Given the description of an element on the screen output the (x, y) to click on. 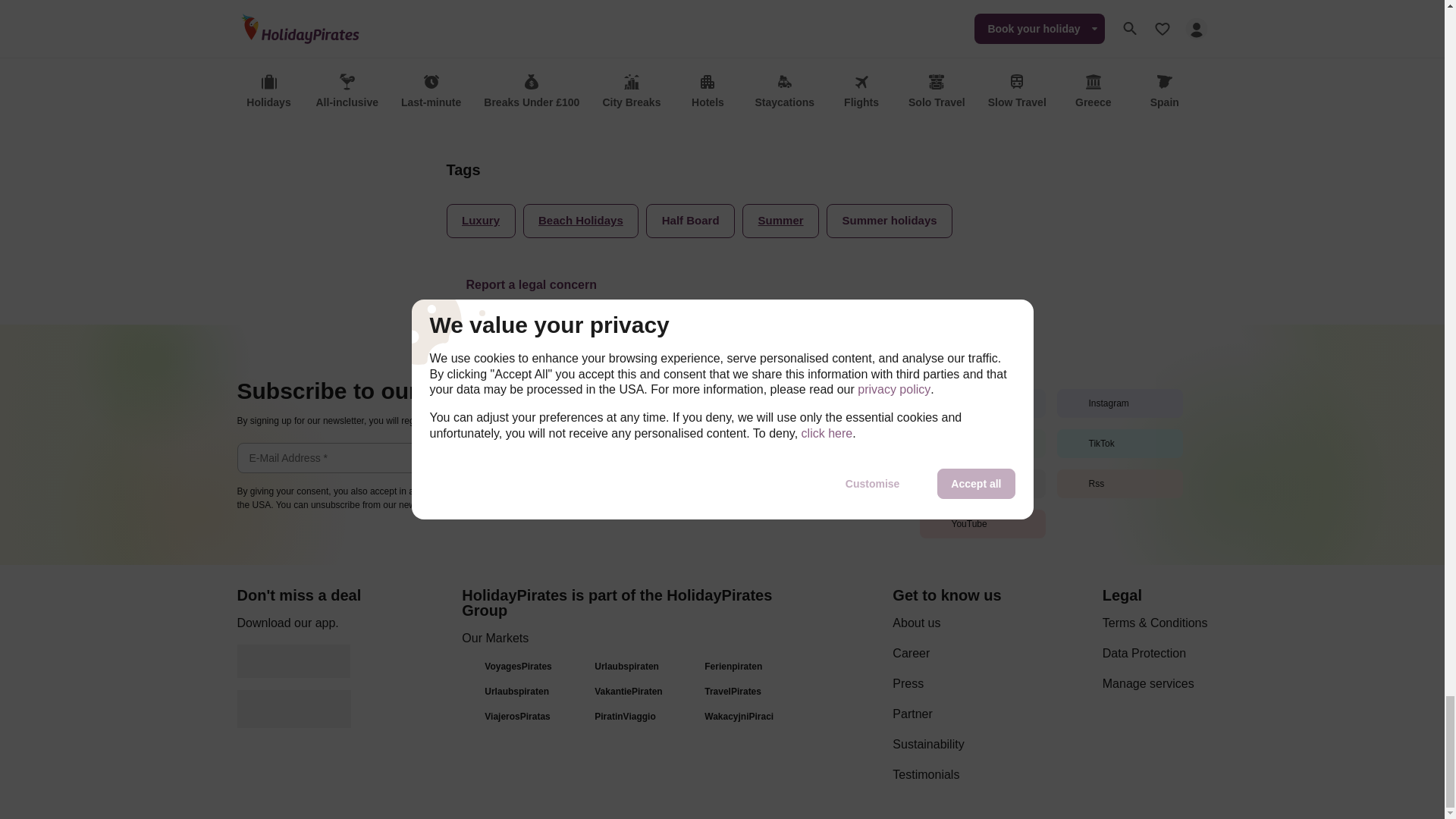
Image-4 (695, 91)
Image-7 (749, 91)
Image-2 (658, 91)
Image-1 (640, 91)
Image-3 (676, 91)
Image-5 (713, 91)
Image-6 (731, 91)
google (292, 661)
Image-9 (786, 91)
Image-8 (767, 91)
